Given the description of an element on the screen output the (x, y) to click on. 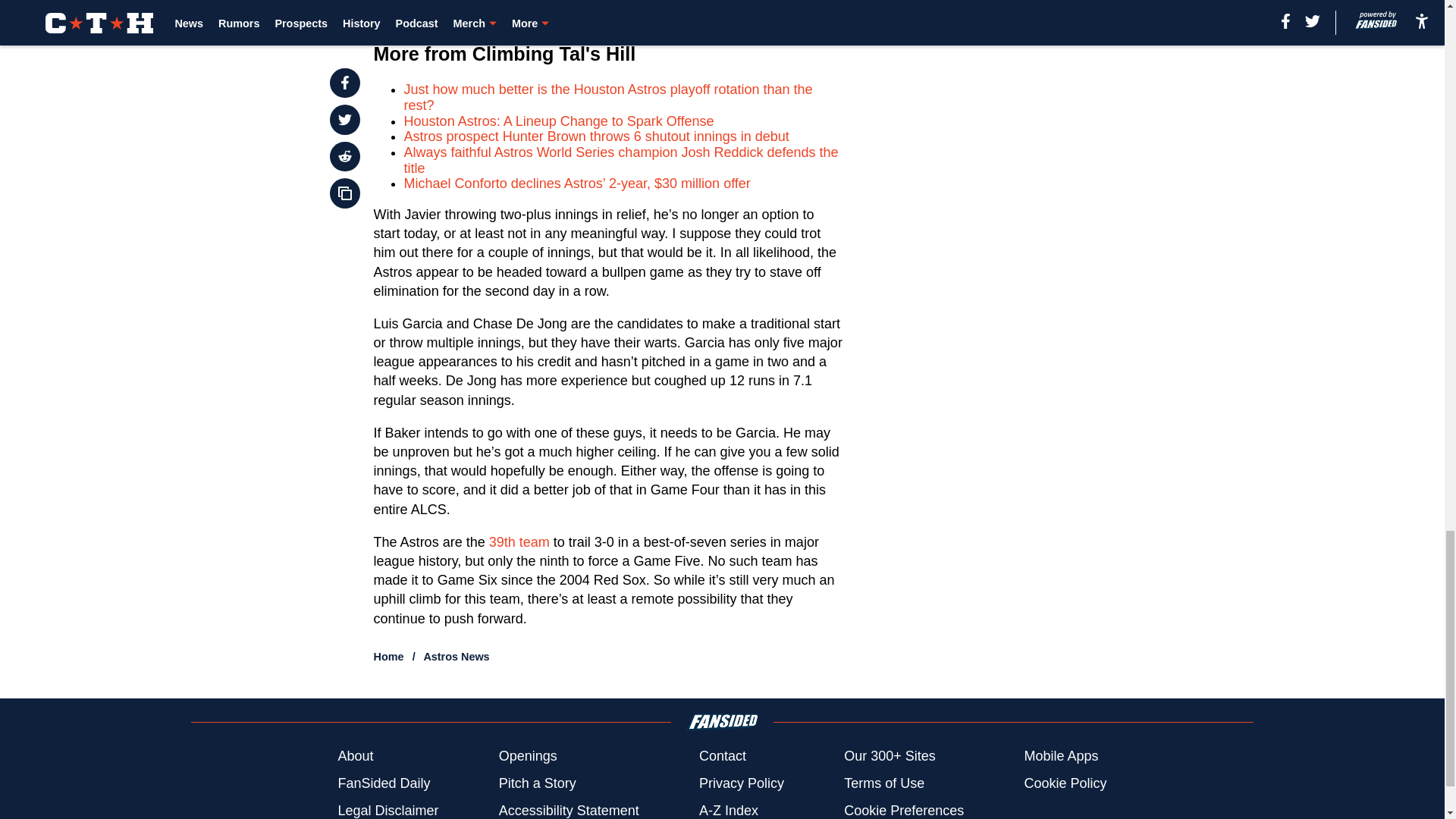
Houston Astros: A Lineup Change to Spark Offense (559, 120)
